Given the description of an element on the screen output the (x, y) to click on. 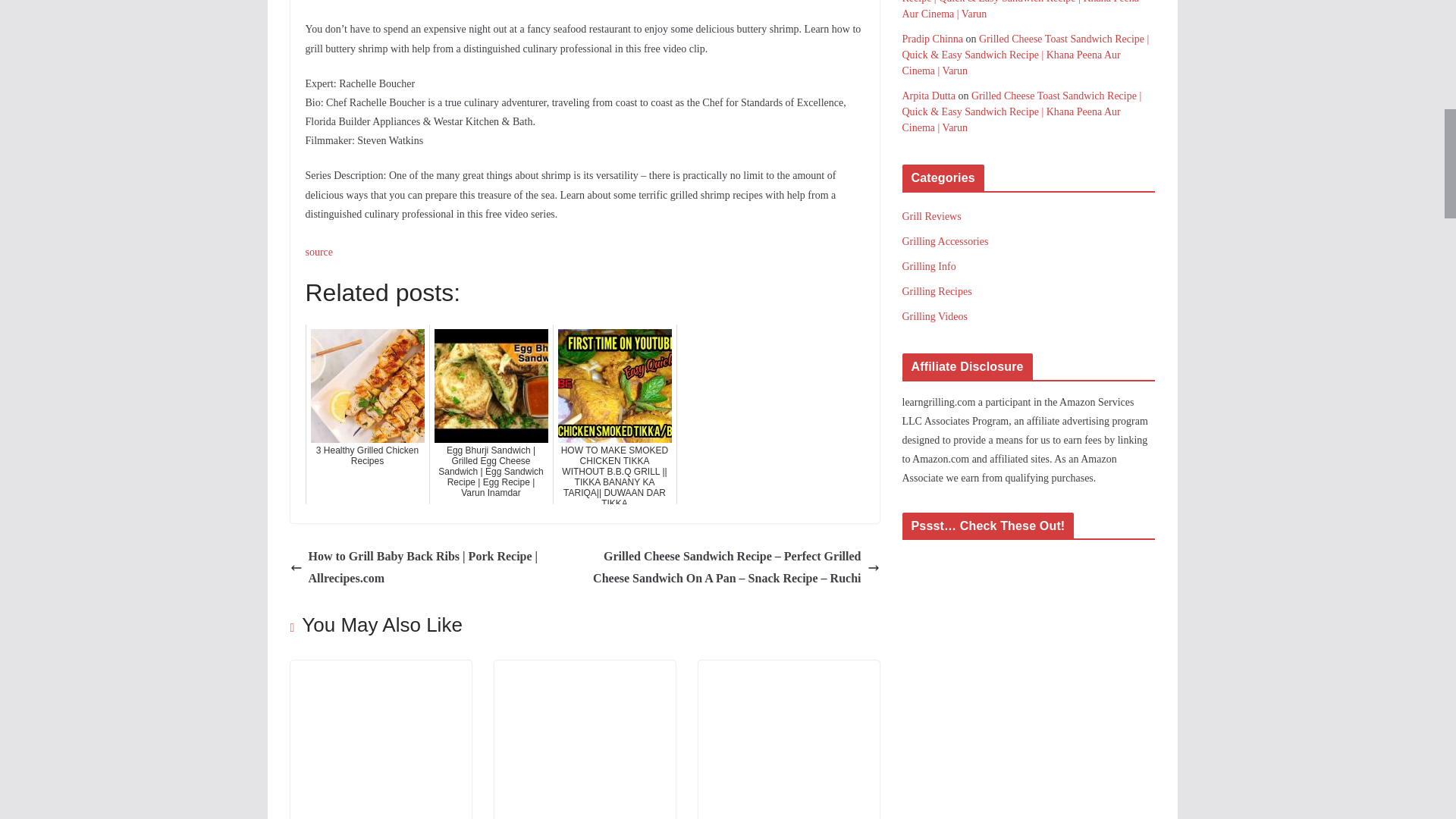
Grilling the Perfect Steak in a Cast Iron Skillet. (585, 670)
source (318, 251)
Grilling Recipes: Grilled Ham (788, 670)
